Given the description of an element on the screen output the (x, y) to click on. 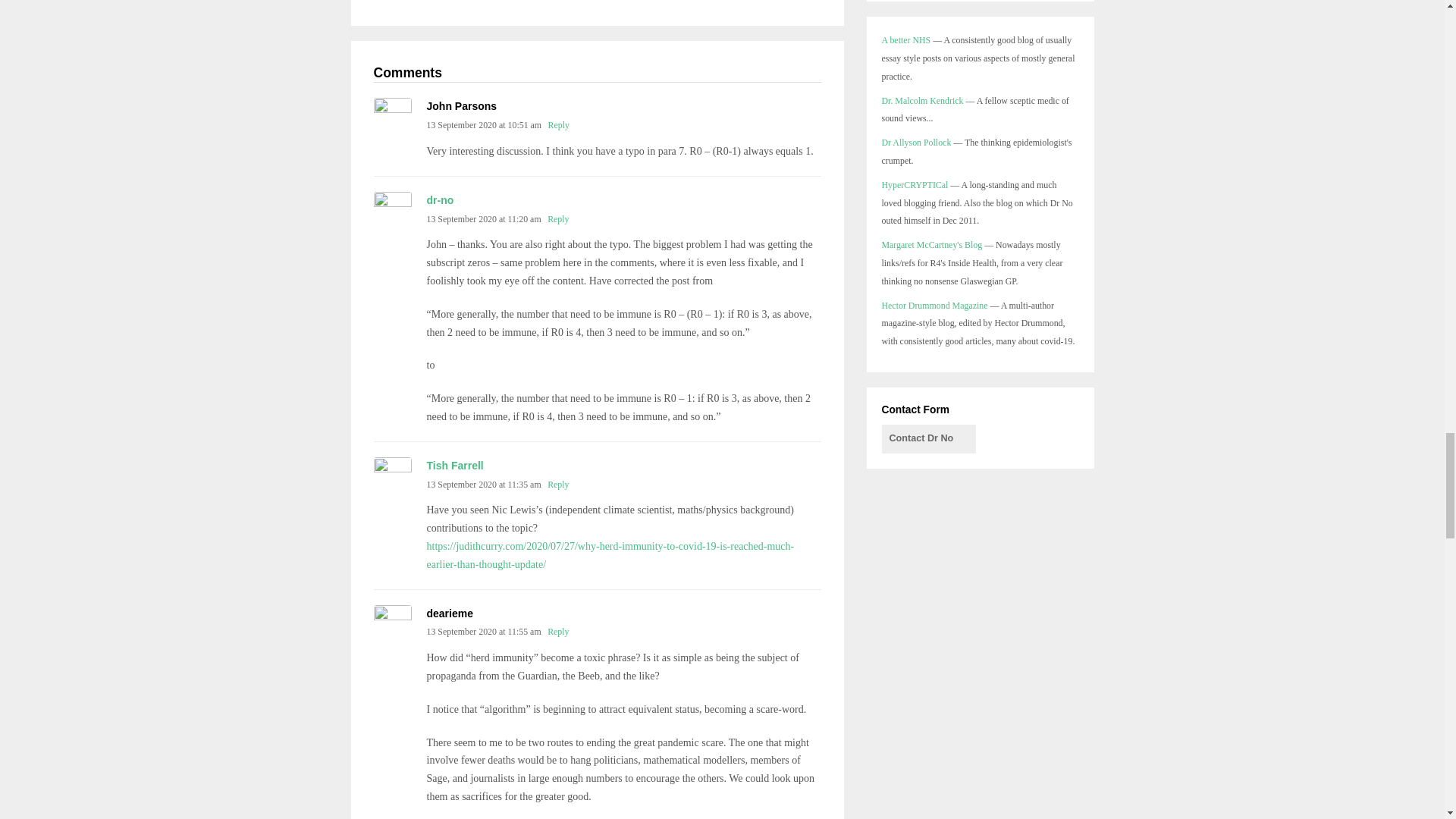
Reply (558, 218)
Reply (558, 631)
13 September 2020 at 11:20 am (483, 218)
Reply (558, 124)
13 September 2020 at 11:55 am (483, 631)
13 September 2020 at 10:51 am (483, 124)
Reply (558, 484)
13 September 2020 at 11:35 am (483, 484)
dr-no (439, 200)
Tish Farrell (454, 465)
